Given the description of an element on the screen output the (x, y) to click on. 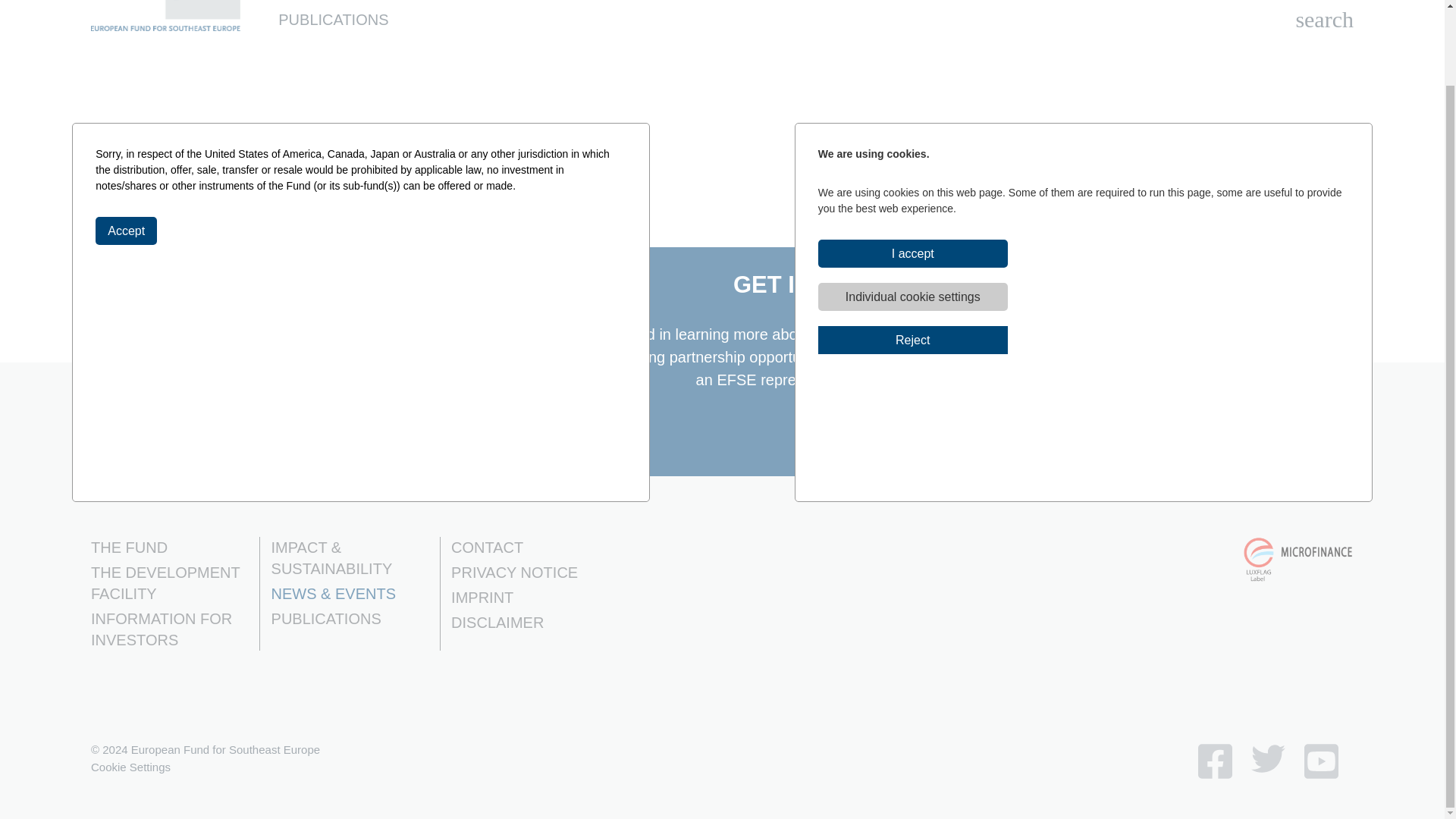
Search (1324, 19)
I accept (912, 169)
Reject (912, 255)
PUBLICATIONS (333, 19)
Accept (126, 146)
Individual cookie settings (912, 212)
